Given the description of an element on the screen output the (x, y) to click on. 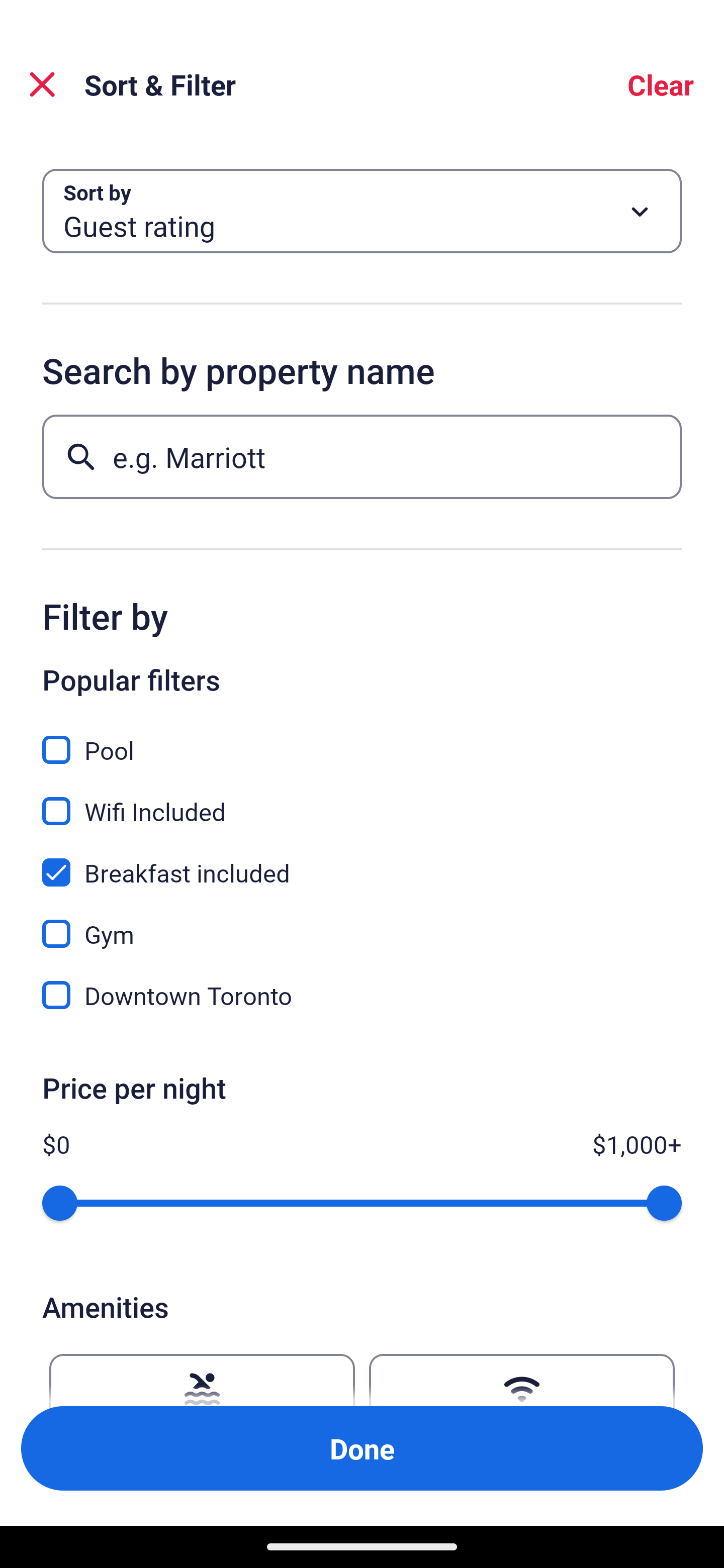
Close Sort and Filter (42, 84)
Clear (660, 84)
Sort by Button Guest rating (361, 211)
e.g. Marriott Button (361, 455)
Pool, Pool (361, 738)
Wifi Included, Wifi Included (361, 800)
Breakfast included, Breakfast included (361, 861)
Gym, Gym (361, 922)
Downtown Toronto, Downtown Toronto (361, 995)
Apply and close Sort and Filter Done (361, 1448)
